Given the description of an element on the screen output the (x, y) to click on. 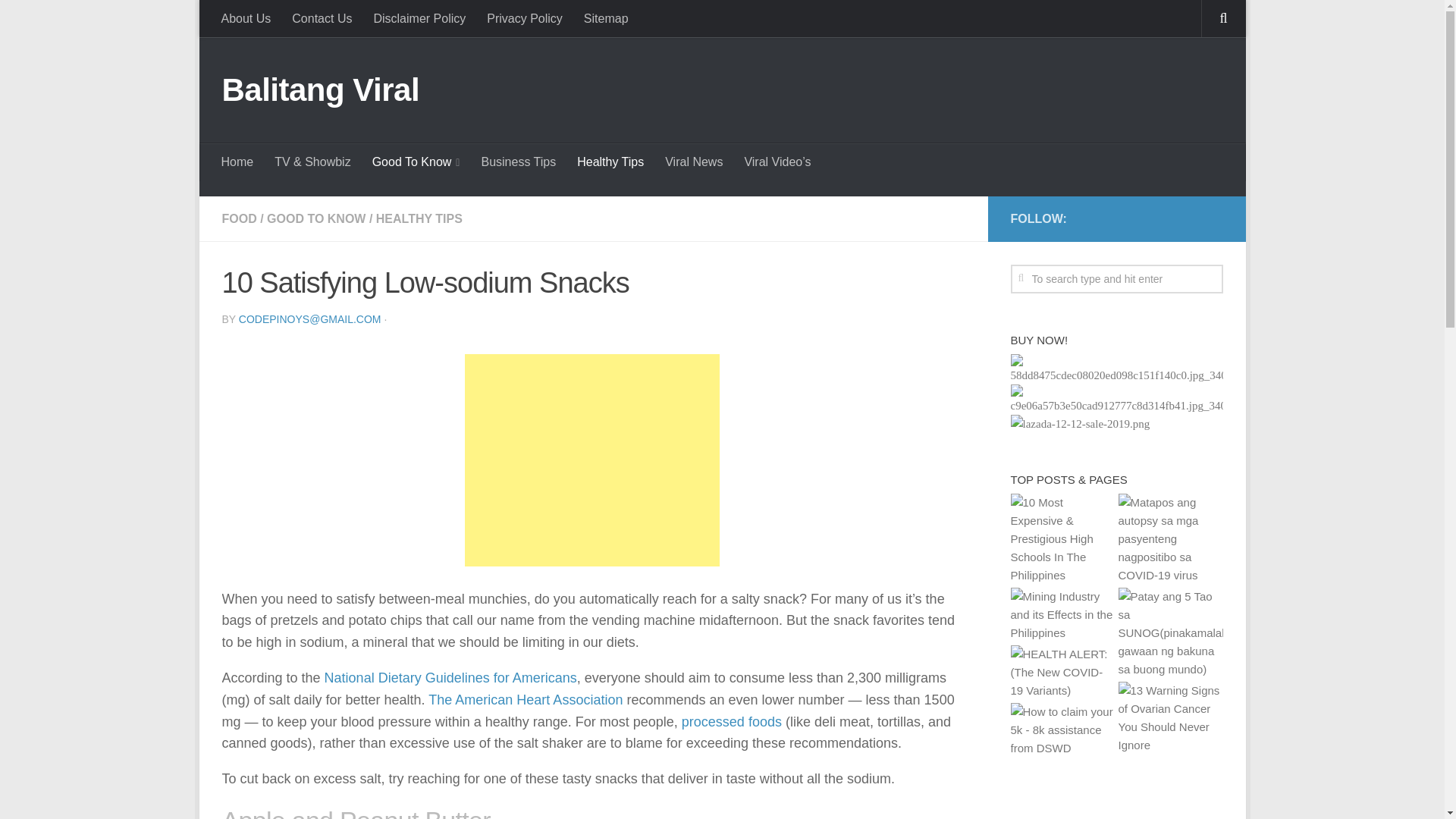
processed foods (731, 721)
Balitang Viral (320, 90)
Privacy Policy (524, 18)
HEALTHY TIPS (419, 218)
National Dietary Guidelines for Americans (450, 677)
FOOD (238, 218)
Disclaimer Policy (419, 18)
Healthy Tips (609, 161)
Sitemap (606, 18)
How to claim your 5k - 8k assistance from DSWD (1062, 729)
